Given the description of an element on the screen output the (x, y) to click on. 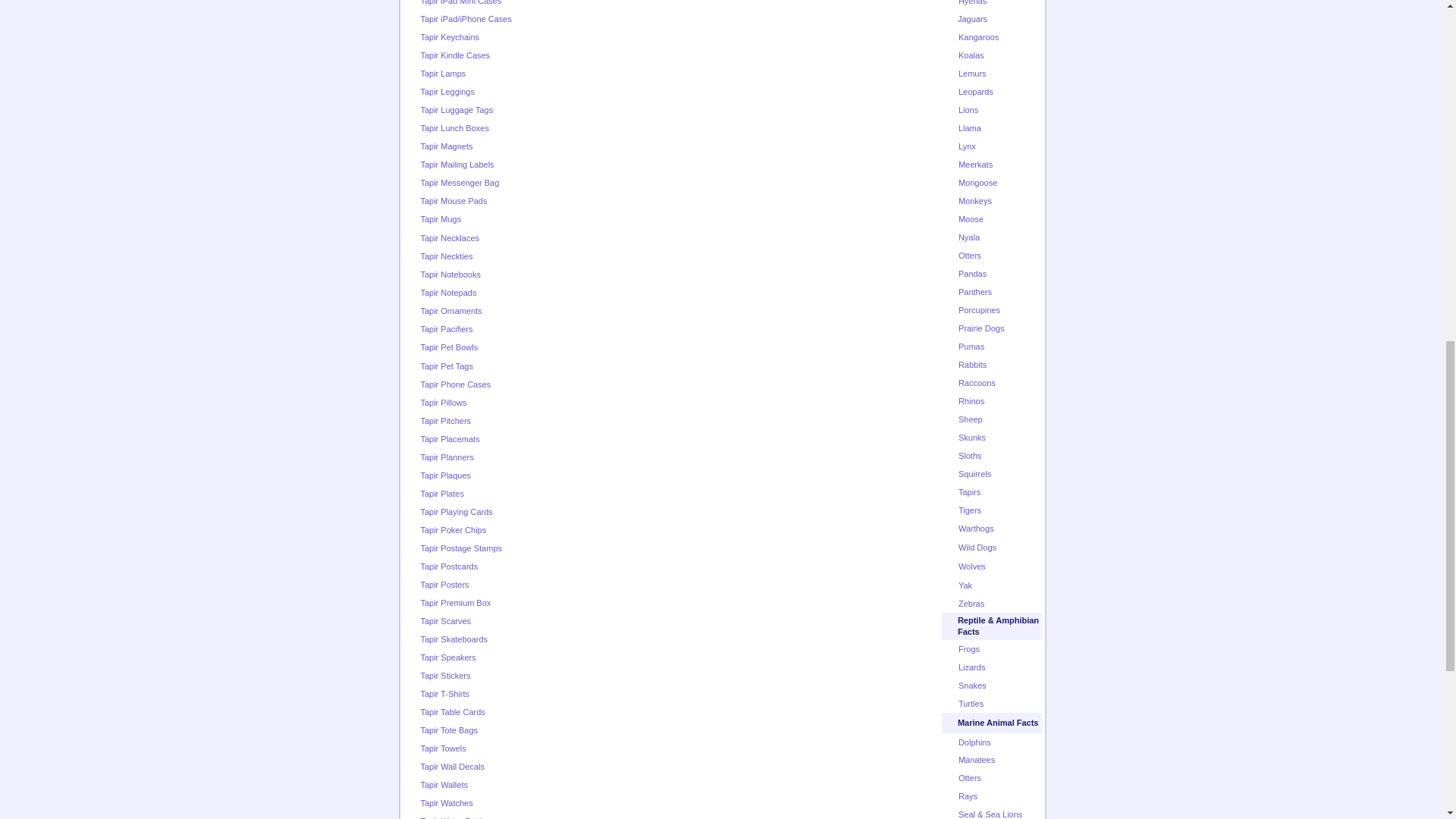
Tapir Kindle Cases (454, 54)
Tapir Lamps (442, 72)
Tapir iPad MIni Cases (460, 2)
Tapir Keychains (449, 36)
